Given the description of an element on the screen output the (x, y) to click on. 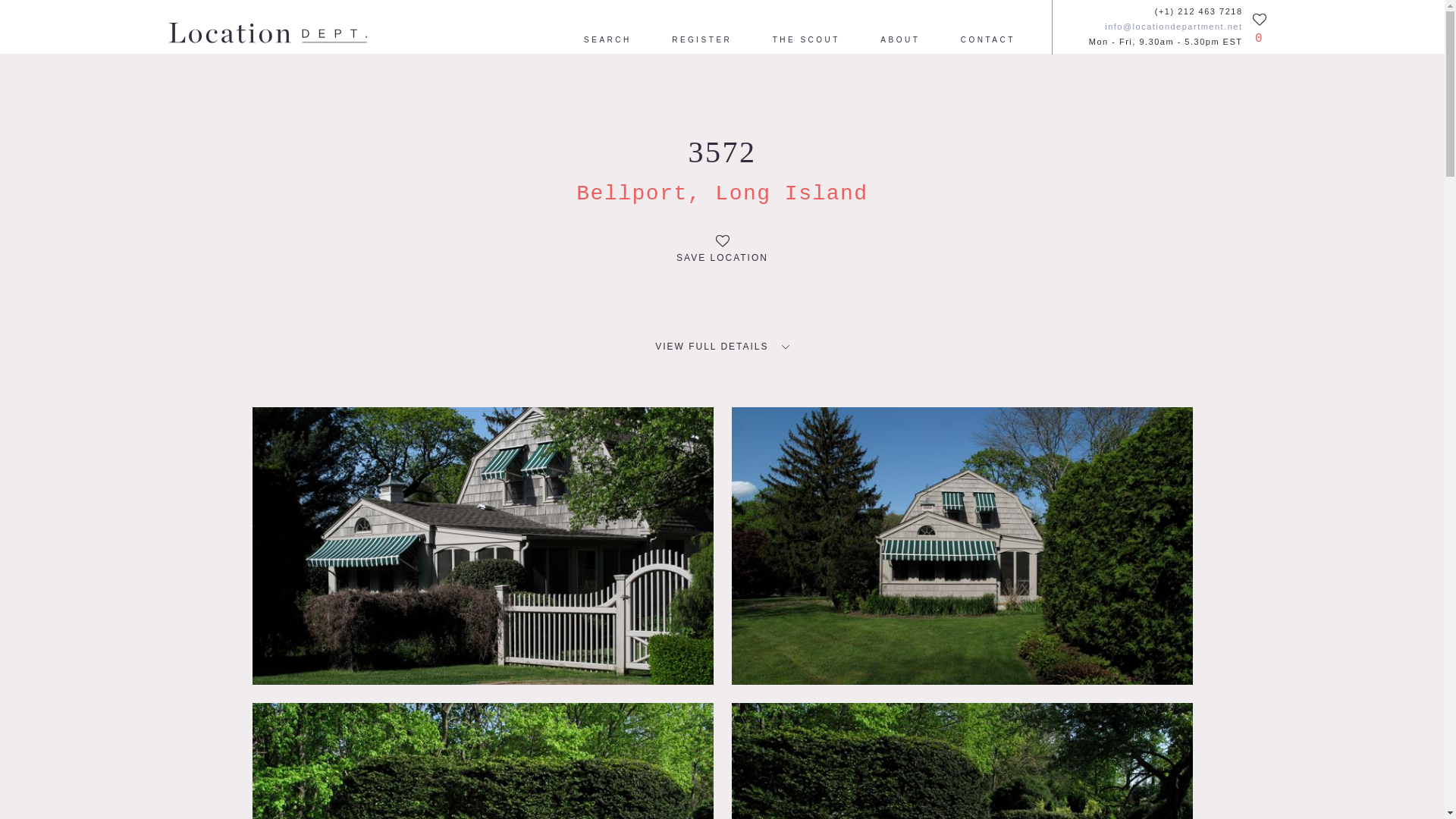
ABOUT (900, 41)
VIEW FULL DETAILS (721, 346)
SEARCH (607, 41)
THE SCOUT (806, 41)
CONTACT (987, 41)
REGISTER (701, 41)
